Given the description of an element on the screen output the (x, y) to click on. 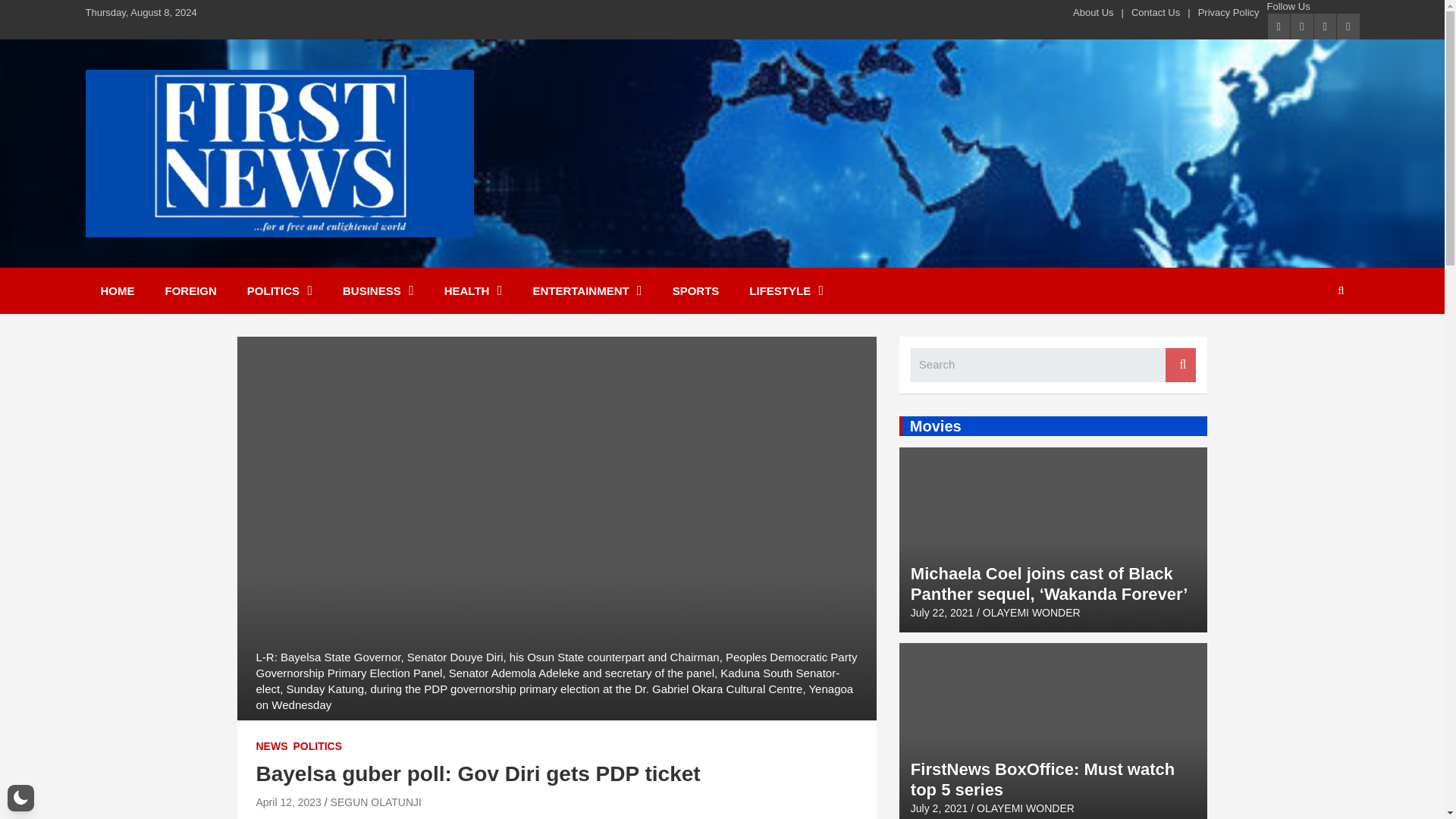
First News NG (188, 256)
ENTERTAINMENT (586, 290)
BUSINESS (378, 290)
FOREIGN (190, 290)
SPORTS (696, 290)
Bayelsa guber poll: Gov Diri gets PDP ticket (288, 802)
LIFESTYLE (785, 290)
April 12, 2023 (288, 802)
HEALTH (473, 290)
NEWS (272, 746)
